Given the description of an element on the screen output the (x, y) to click on. 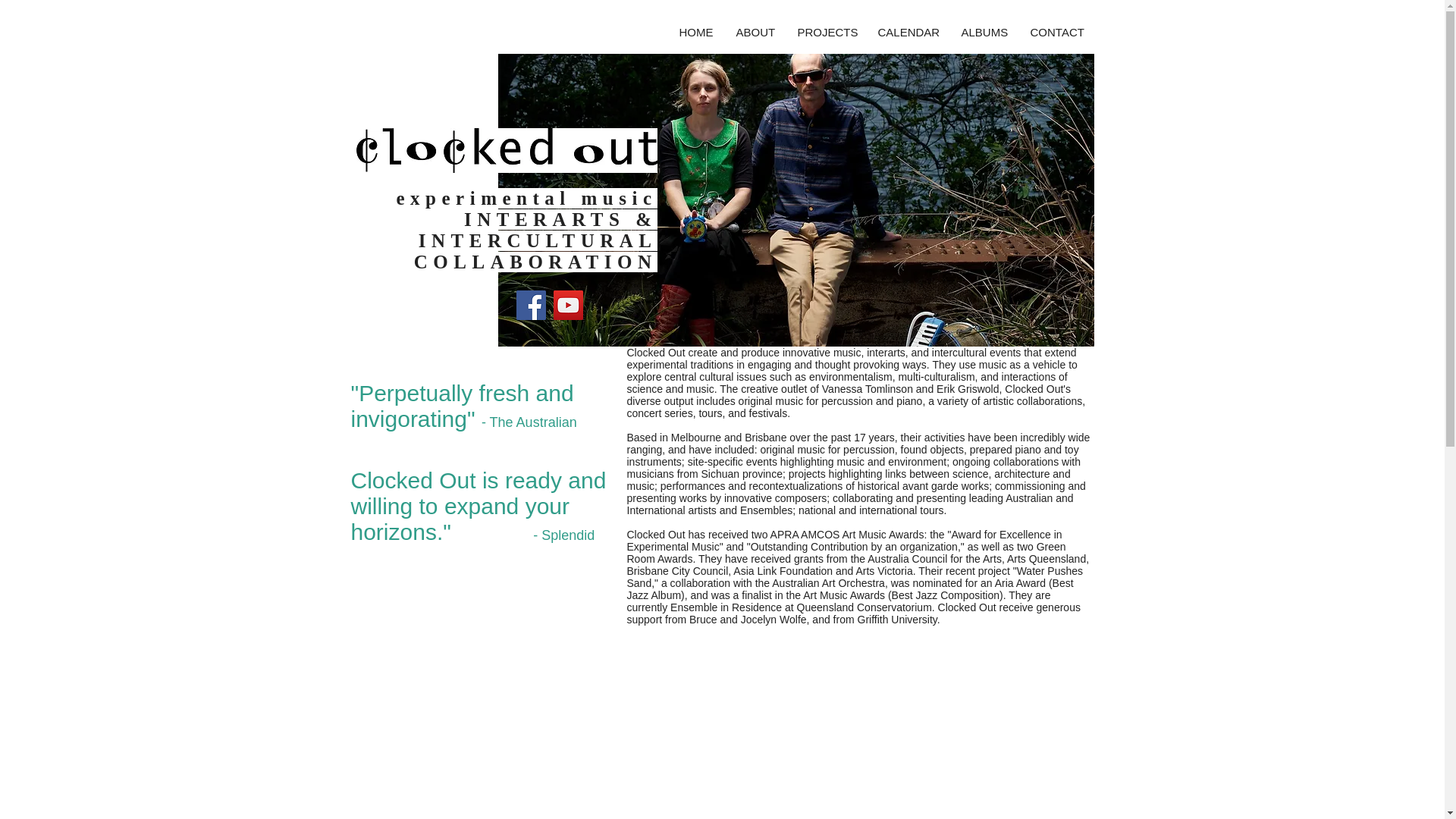
ALBUMS (983, 31)
experimental music (527, 198)
PROJECTS (826, 31)
ABOUT (755, 31)
CALENDAR (907, 31)
HOME (694, 31)
CONTACT (1056, 31)
